Given the description of an element on the screen output the (x, y) to click on. 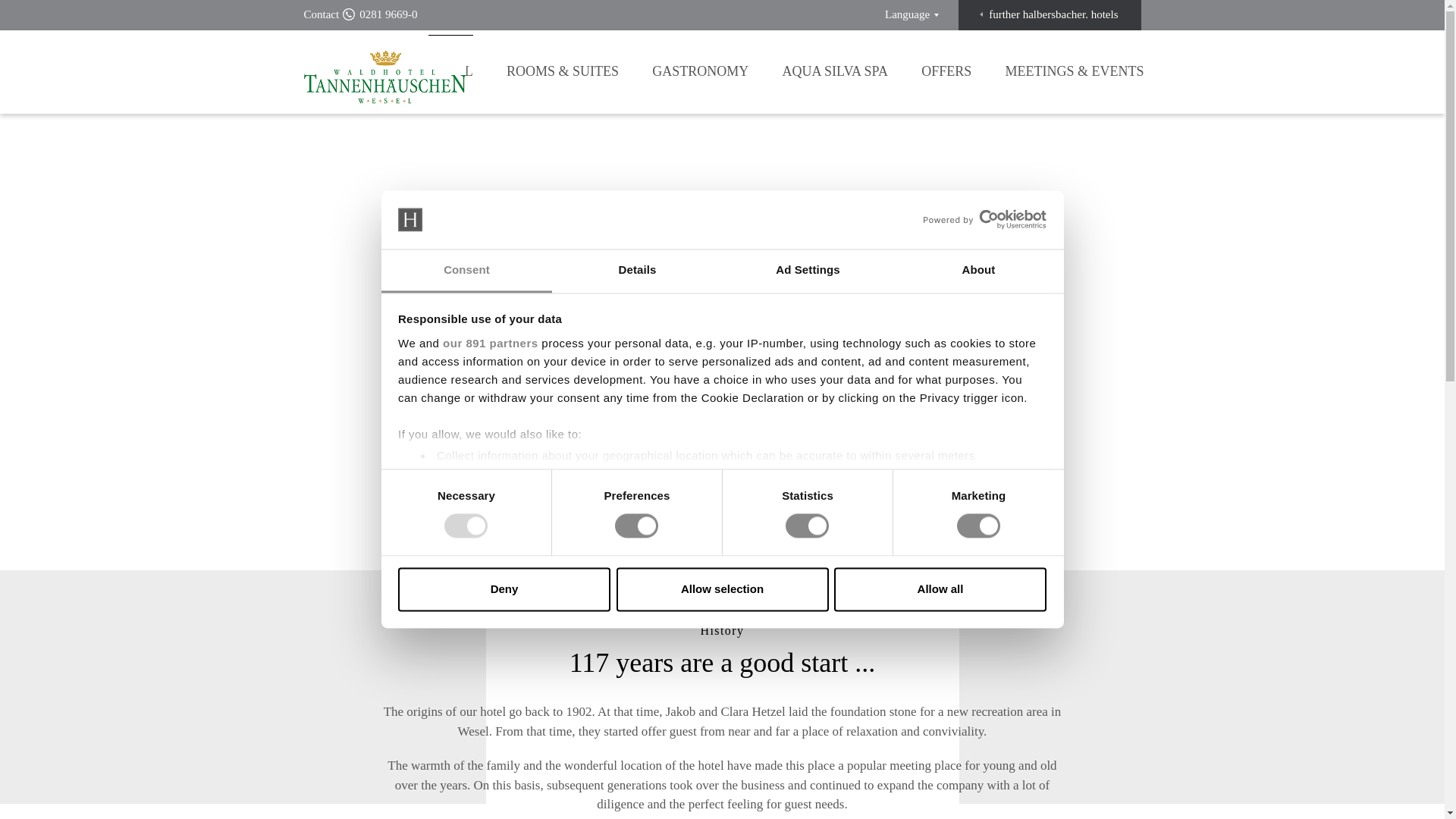
About (978, 270)
Details (636, 270)
our 891 partners (490, 342)
details section (927, 494)
Book online (852, 515)
Ad Settings (807, 270)
Consent (465, 270)
